Given the description of an element on the screen output the (x, y) to click on. 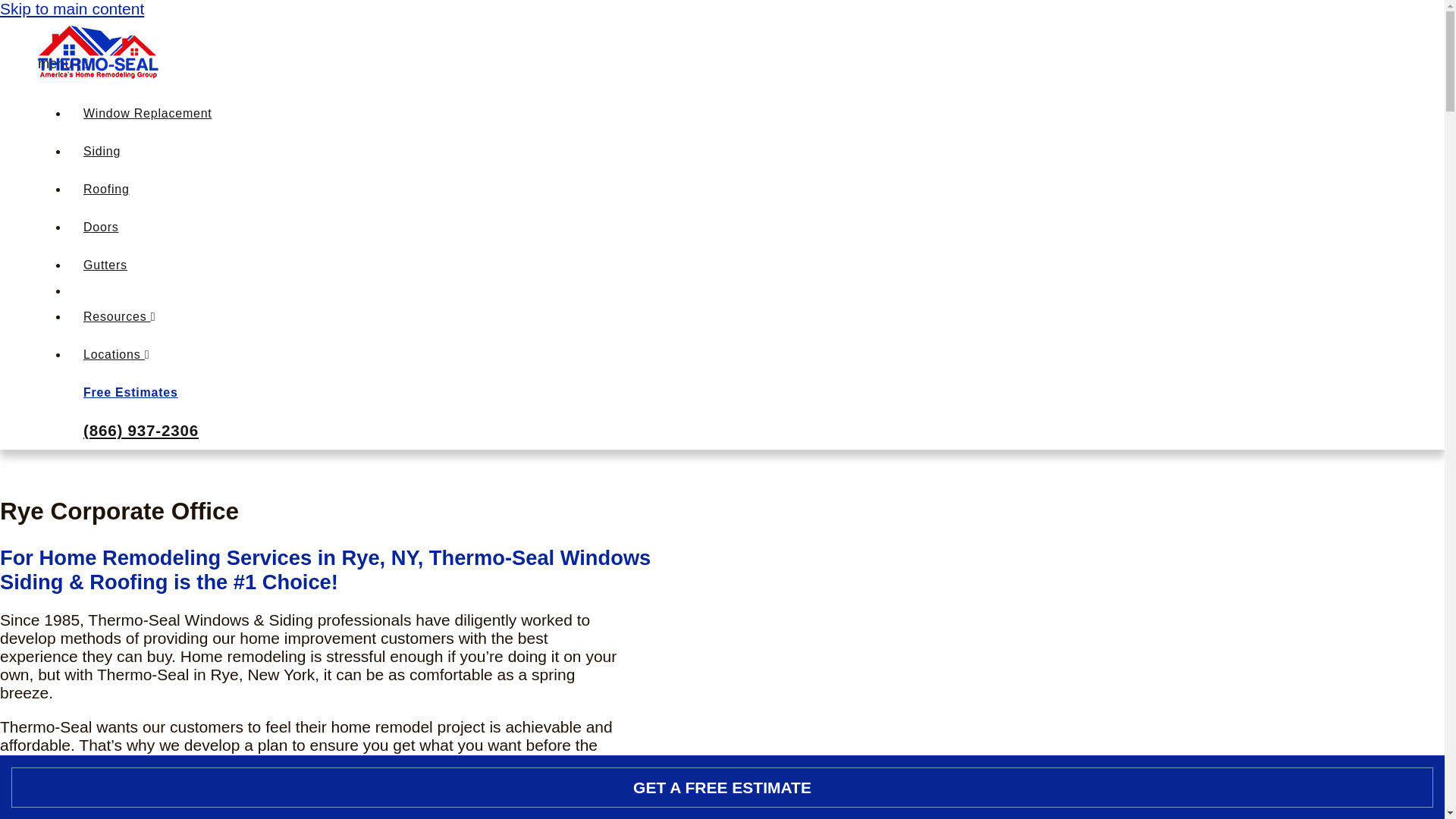
Gutters (105, 264)
Locations (116, 354)
Window Replacement (147, 113)
GET A FREE ESTIMATE (721, 787)
Roofing (106, 188)
Resources (119, 316)
Request a Free Estimate (156, 781)
Free Estimates (130, 391)
Siding (101, 151)
Doors (100, 226)
